Given the description of an element on the screen output the (x, y) to click on. 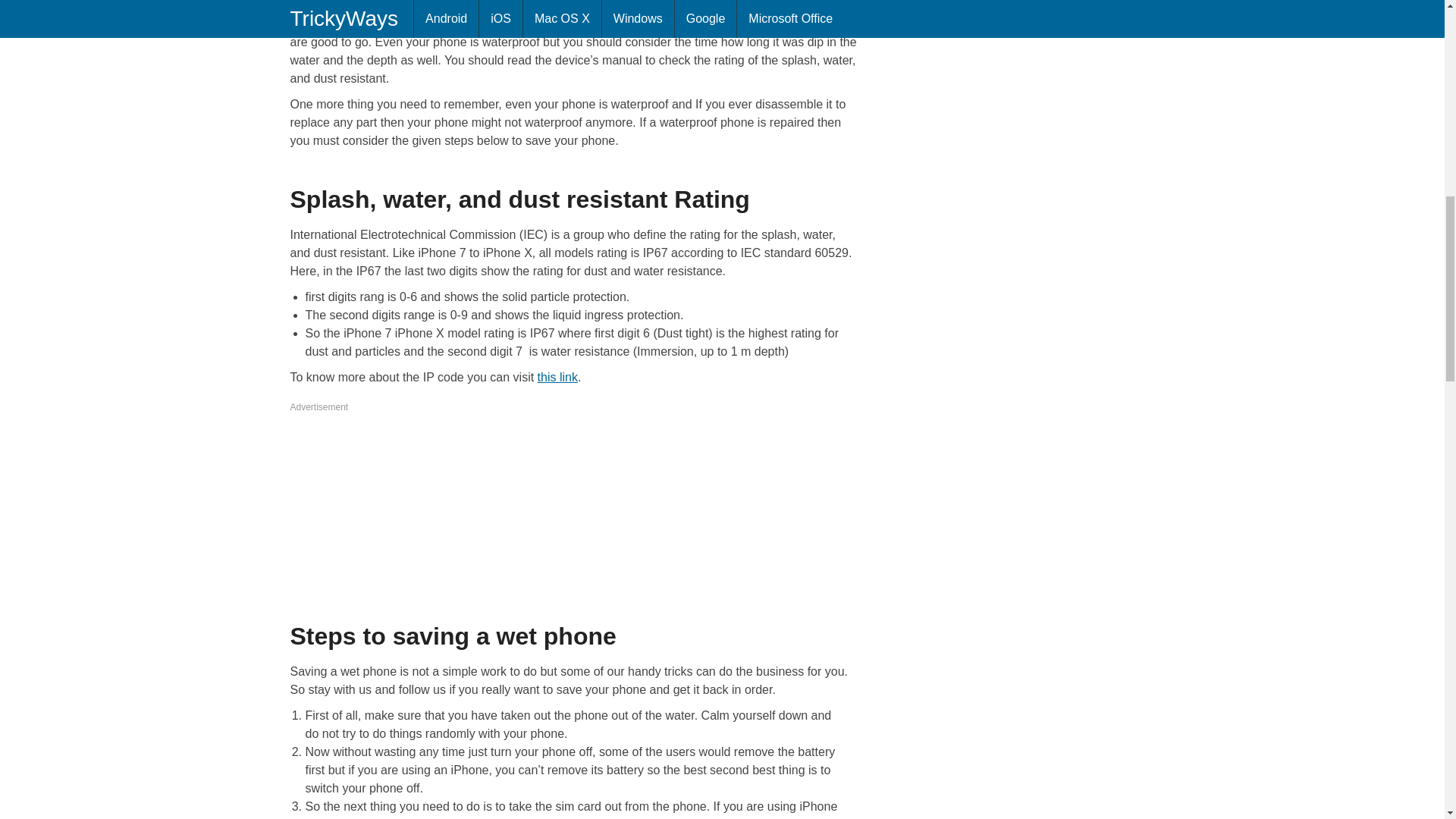
Advertisement (574, 491)
Advertisement (1017, 97)
this link (557, 377)
